Given the description of an element on the screen output the (x, y) to click on. 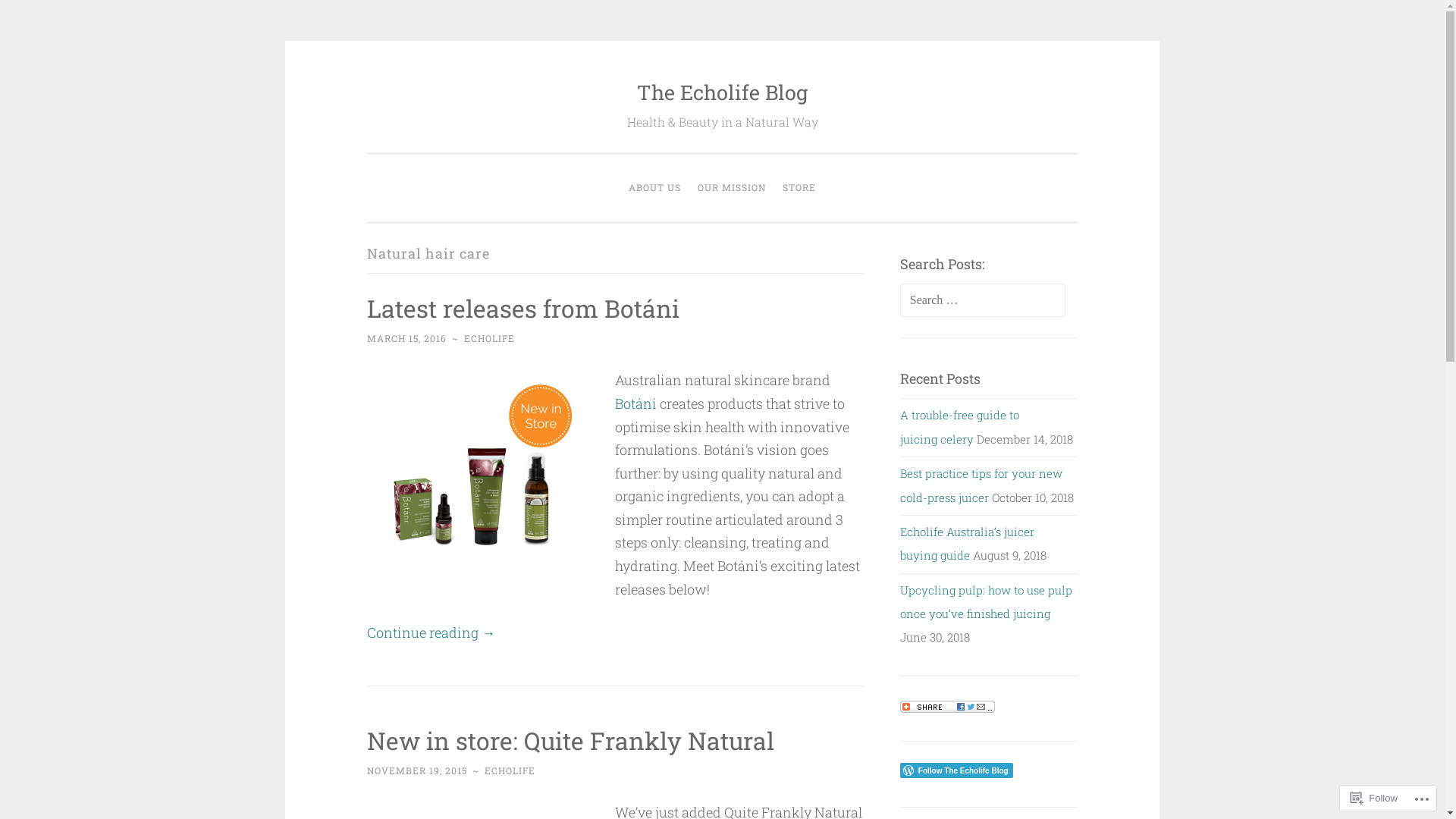
A trouble-free guide to juicing celery Element type: text (959, 426)
ECHOLIFE Element type: text (509, 770)
The Echolife Blog Element type: text (722, 91)
Follow Button Element type: hover (988, 770)
NOVEMBER 19, 2015 Element type: text (417, 770)
MARCH 15, 2016 Element type: text (406, 338)
Bookmark and Share Element type: hover (947, 707)
Search Element type: text (39, 17)
ECHOLIFE Element type: text (489, 338)
New in store: Quite Frankly Natural Element type: text (570, 740)
Follow Element type: text (1373, 797)
Best practice tips for your new cold-press juicer Element type: text (981, 484)
OUR MISSION Element type: text (731, 187)
STORE Element type: text (798, 187)
ABOUT US Element type: text (654, 187)
